Given the description of an element on the screen output the (x, y) to click on. 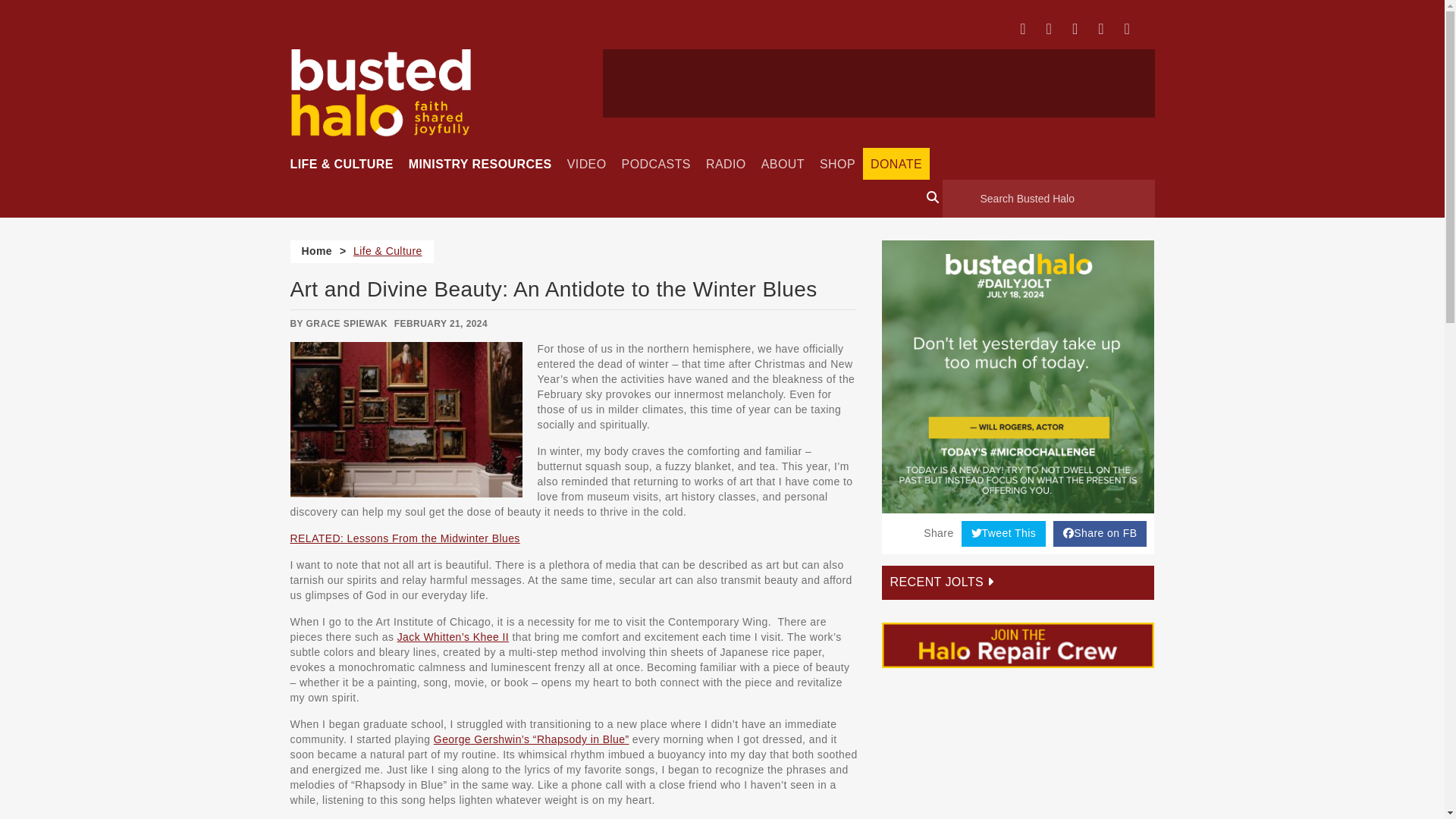
ABOUT (783, 163)
Home (317, 250)
PODCASTS (656, 163)
SHOP (837, 163)
GRACE SPIEWAK (346, 323)
Share on FB (1099, 533)
RELATED: Lessons From the Midwinter Blues (404, 538)
Tweet This (1003, 533)
DONATE (892, 163)
Search for: (1048, 198)
RADIO (726, 163)
RECENT JOLTS (1017, 582)
